Given the description of an element on the screen output the (x, y) to click on. 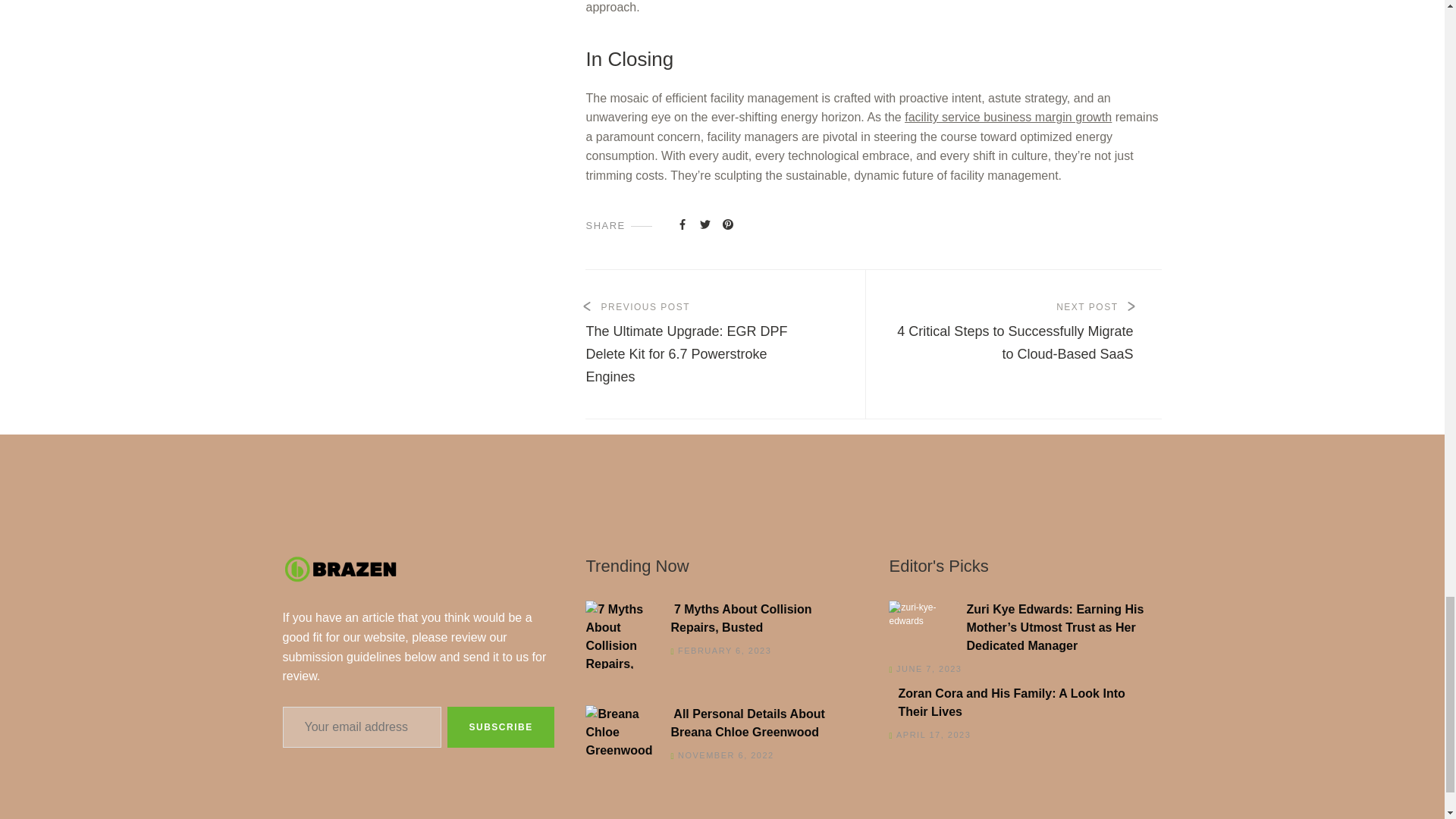
facility service business margin growth (1008, 116)
